Given the description of an element on the screen output the (x, y) to click on. 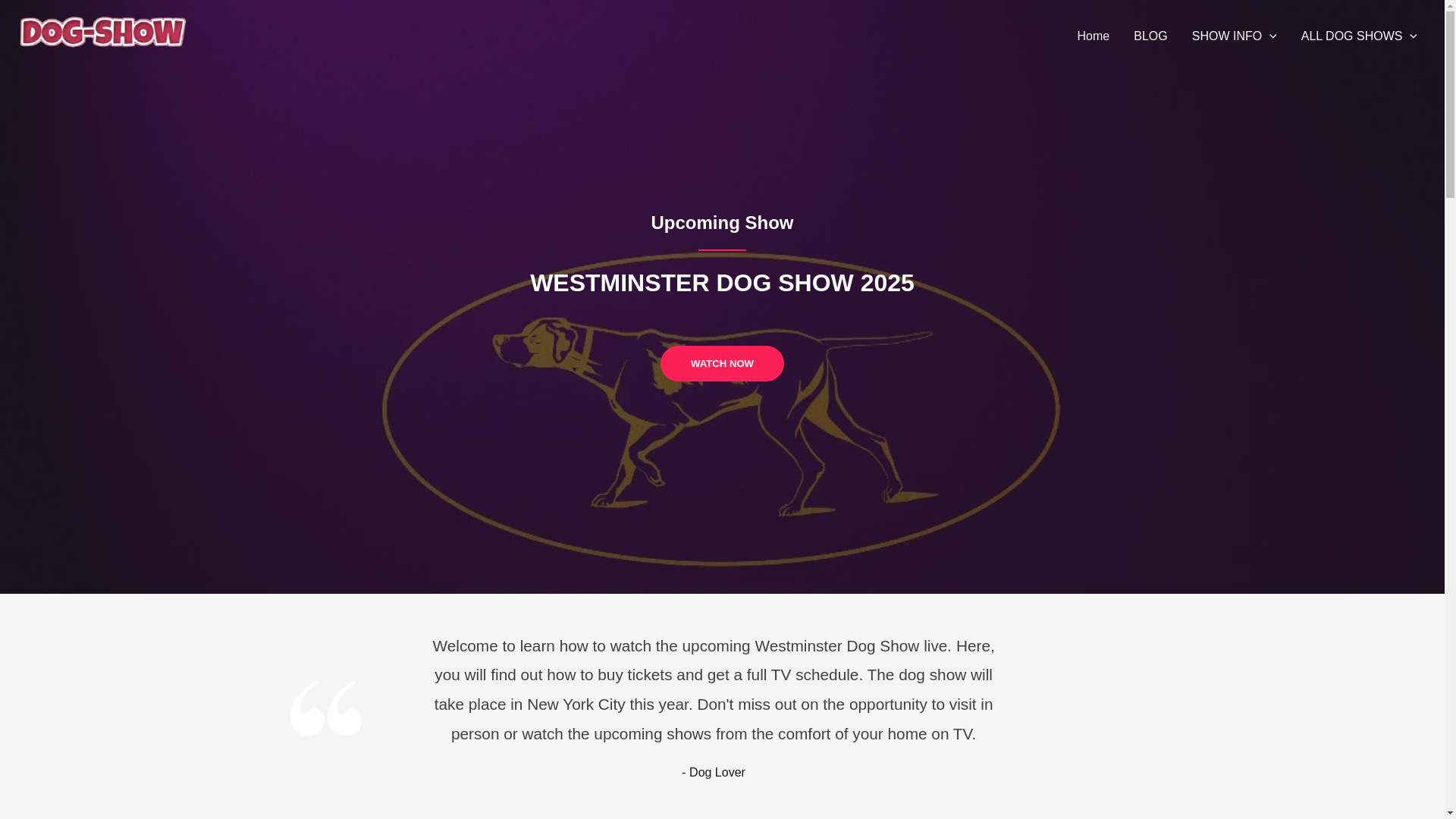
ALL DOG SHOWS (1358, 36)
WATCH NOW (722, 363)
BLOG (1150, 36)
Home (1093, 36)
SHOW INFO (1233, 36)
